Given the description of an element on the screen output the (x, y) to click on. 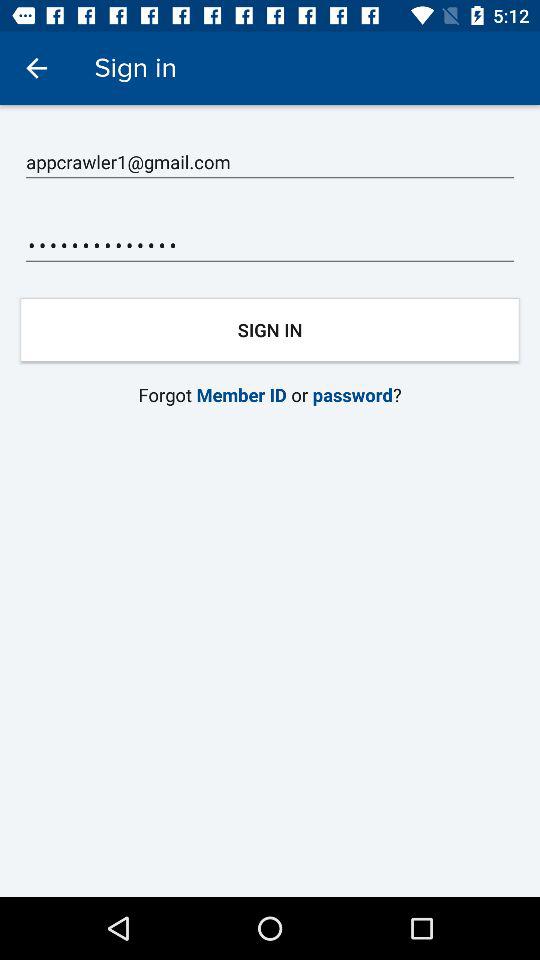
tap the icon below the appcrawler1@gmail.com item (270, 246)
